Given the description of an element on the screen output the (x, y) to click on. 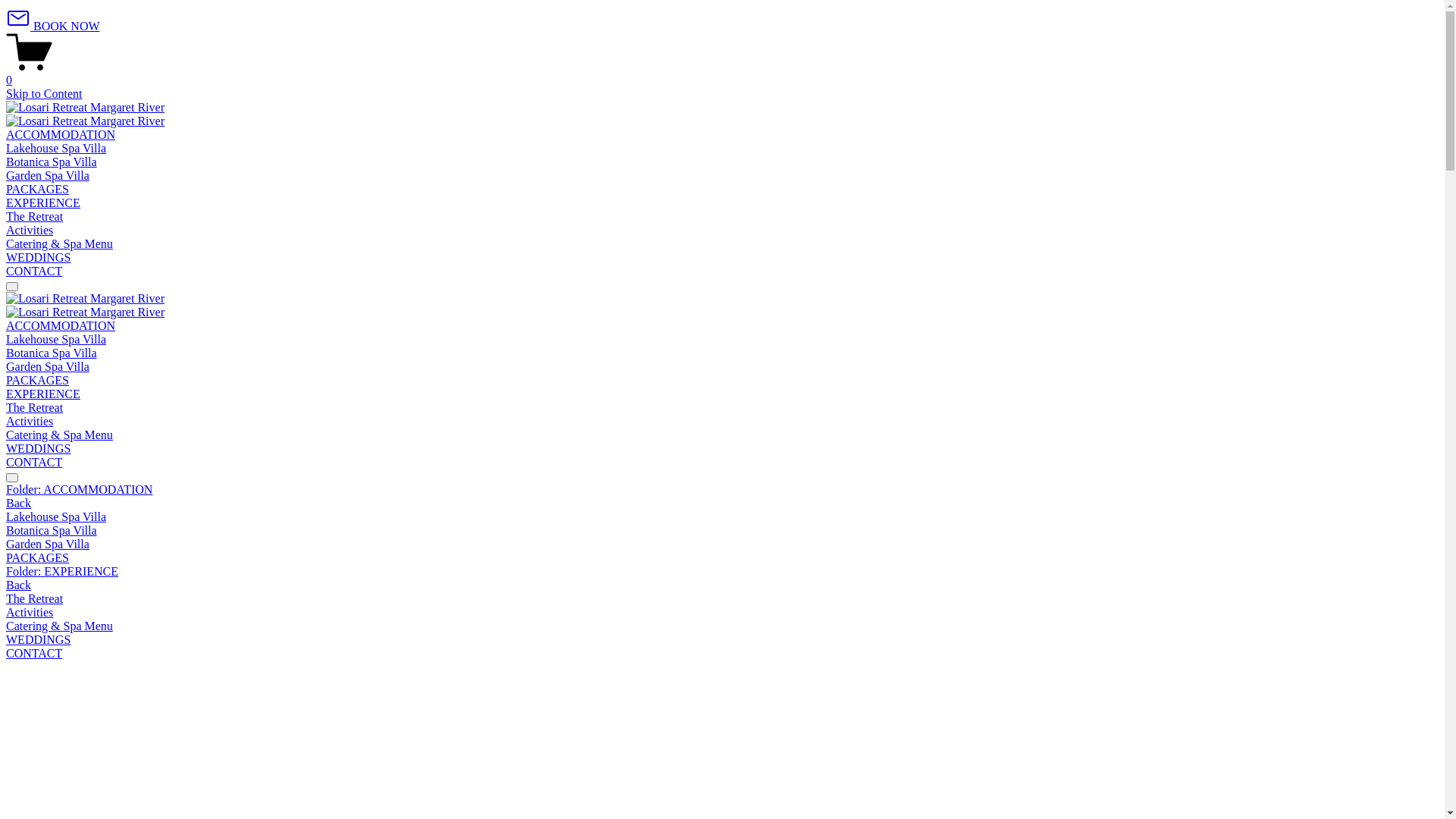
Back Element type: text (18, 502)
Lakehouse Spa Villa Element type: text (56, 338)
Botanica Spa Villa Element type: text (51, 352)
Catering & Spa Menu Element type: text (59, 243)
Skip to Content Element type: text (43, 93)
Activities Element type: text (29, 420)
WEDDINGS Element type: text (722, 639)
WEDDINGS Element type: text (38, 448)
Back Element type: text (18, 584)
Activities Element type: text (722, 612)
The Retreat Element type: text (34, 216)
EXPERIENCE Element type: text (43, 393)
Garden Spa Villa Element type: text (722, 544)
Catering & Spa Menu Element type: text (722, 626)
BOOK NOW Element type: text (53, 25)
Botanica Spa Villa Element type: text (722, 530)
Lakehouse Spa Villa Element type: text (56, 147)
Folder: EXPERIENCE Element type: text (722, 571)
Folder: ACCOMMODATION Element type: text (722, 489)
0 Element type: text (722, 73)
Garden Spa Villa Element type: text (47, 175)
The Retreat Element type: text (34, 407)
Lakehouse Spa Villa Element type: text (722, 517)
CONTACT Element type: text (722, 653)
CONTACT Element type: text (34, 270)
Botanica Spa Villa Element type: text (51, 161)
ACCOMMODATION Element type: text (60, 325)
Catering & Spa Menu Element type: text (59, 434)
PACKAGES Element type: text (37, 188)
Activities Element type: text (29, 229)
PACKAGES Element type: text (722, 557)
Garden Spa Villa Element type: text (47, 366)
PACKAGES Element type: text (37, 379)
CONTACT Element type: text (34, 461)
WEDDINGS Element type: text (38, 257)
EXPERIENCE Element type: text (43, 202)
The Retreat Element type: text (722, 598)
ACCOMMODATION Element type: text (60, 134)
